Given the description of an element on the screen output the (x, y) to click on. 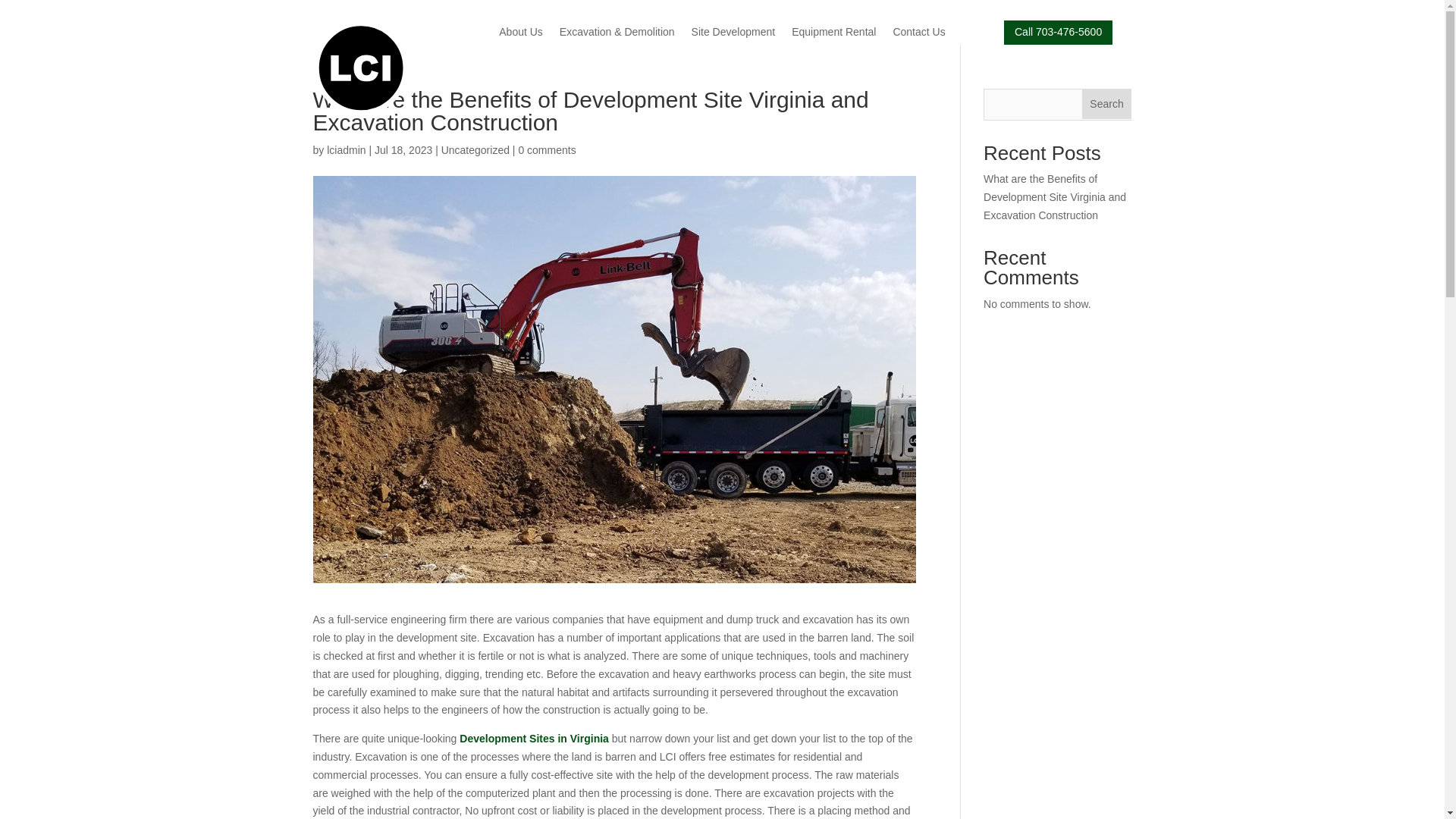
Posts by lciadmin (345, 150)
lci-logo (360, 67)
Call 703-476-5600 (1058, 32)
lciadmin (345, 150)
Search (1106, 103)
0 comments (546, 150)
Uncategorized (475, 150)
Contact Us (918, 34)
Equipment Rental (834, 34)
